Given the description of an element on the screen output the (x, y) to click on. 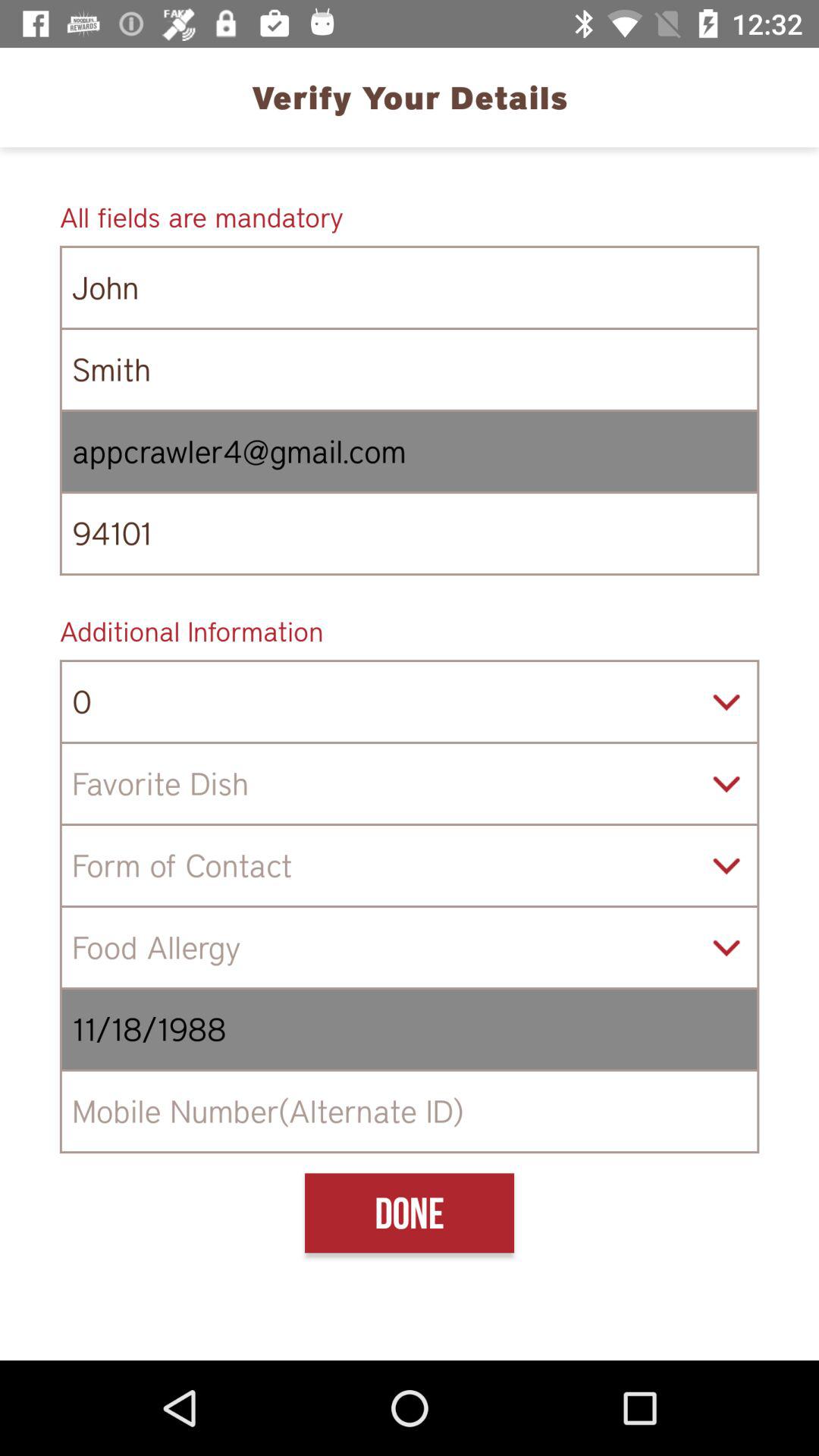
tap the item above 0 (409, 631)
